Given the description of an element on the screen output the (x, y) to click on. 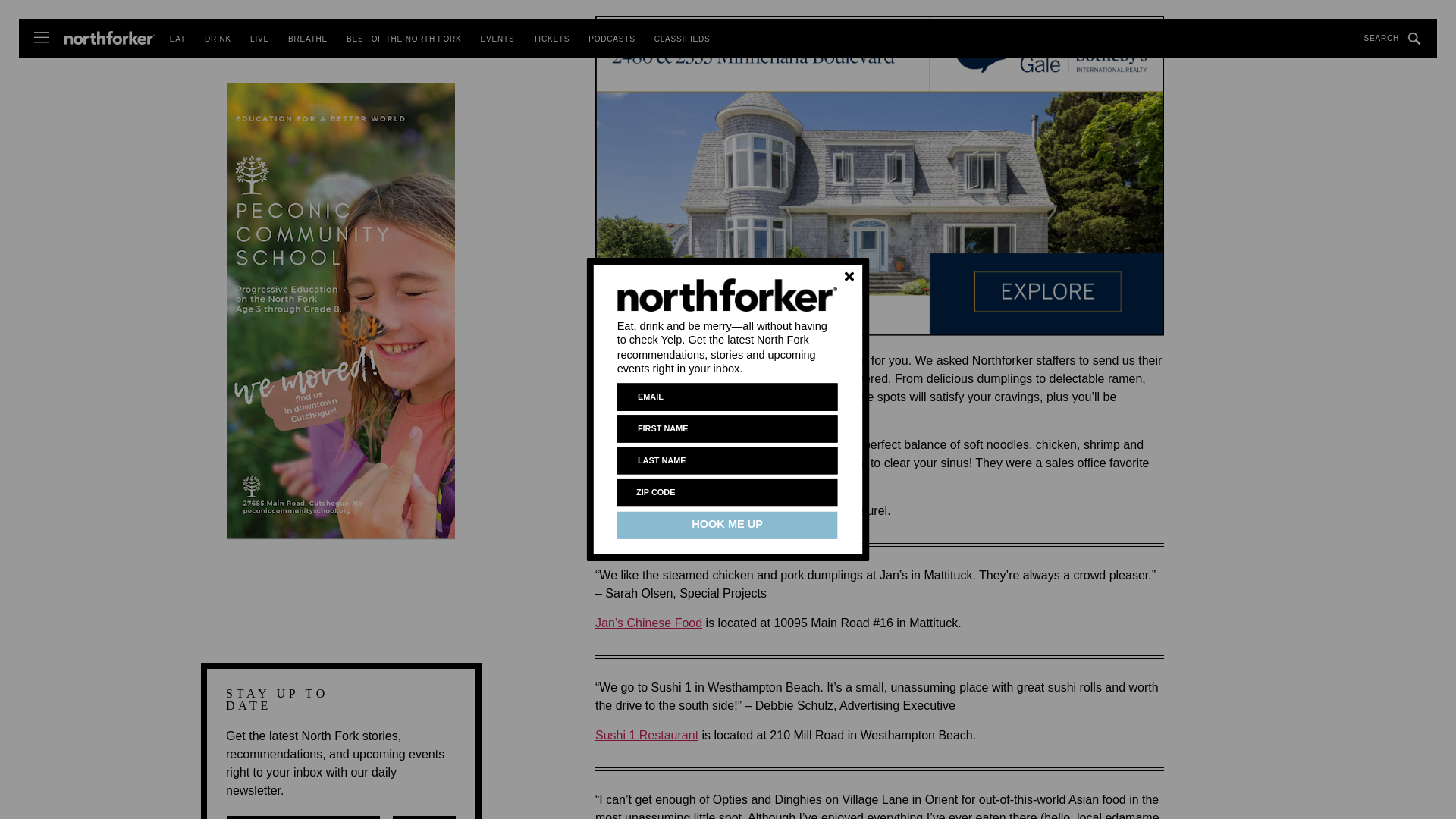
Peconic Community School (340, 110)
